Given the description of an element on the screen output the (x, y) to click on. 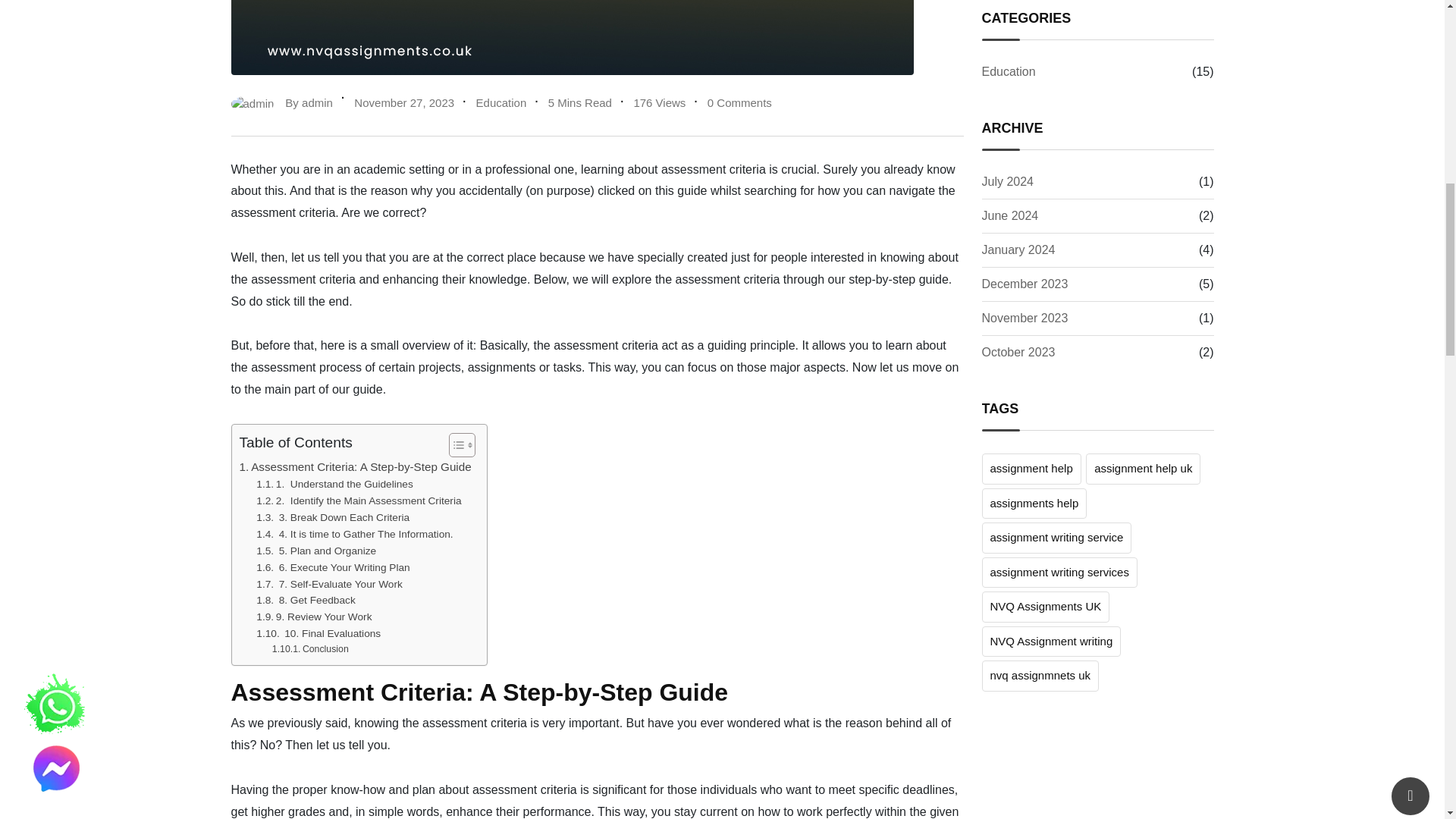
 6. Execute Your Writing Plan (332, 567)
1.  Understand the Guidelines (334, 484)
 4. It is time to Gather The Information. (354, 534)
admin (317, 102)
Education (501, 102)
 3. Break Down Each Criteria (332, 517)
2.  Identify the Main Assessment Criteria (358, 501)
 10. Final Evaluations (318, 633)
 5. Plan and Organize (315, 550)
Assessment Criteria: A Step-by-Step Guide (355, 466)
 8. Get Feedback (305, 600)
